Given the description of an element on the screen output the (x, y) to click on. 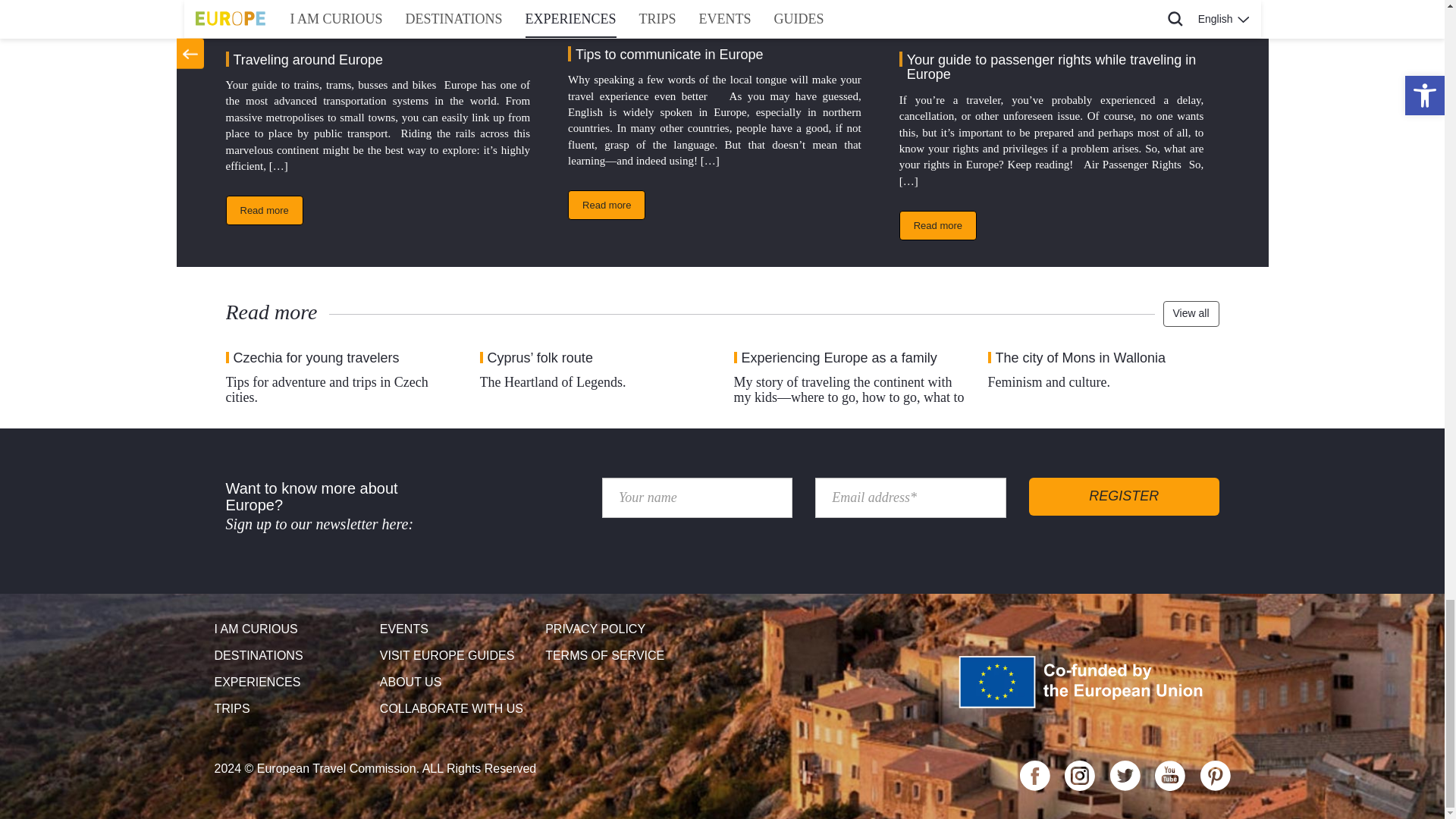
I AM CURIOUS (291, 629)
DESTINATIONS (291, 655)
Register (1124, 496)
PRIVACY POLICY (621, 629)
EXPERIENCES (291, 682)
EVENTS (457, 629)
VISIT EUROPE GUIDES (457, 655)
TRIPS (291, 709)
ABOUT US (457, 682)
COLLABORATE WITH US (457, 709)
